Given the description of an element on the screen output the (x, y) to click on. 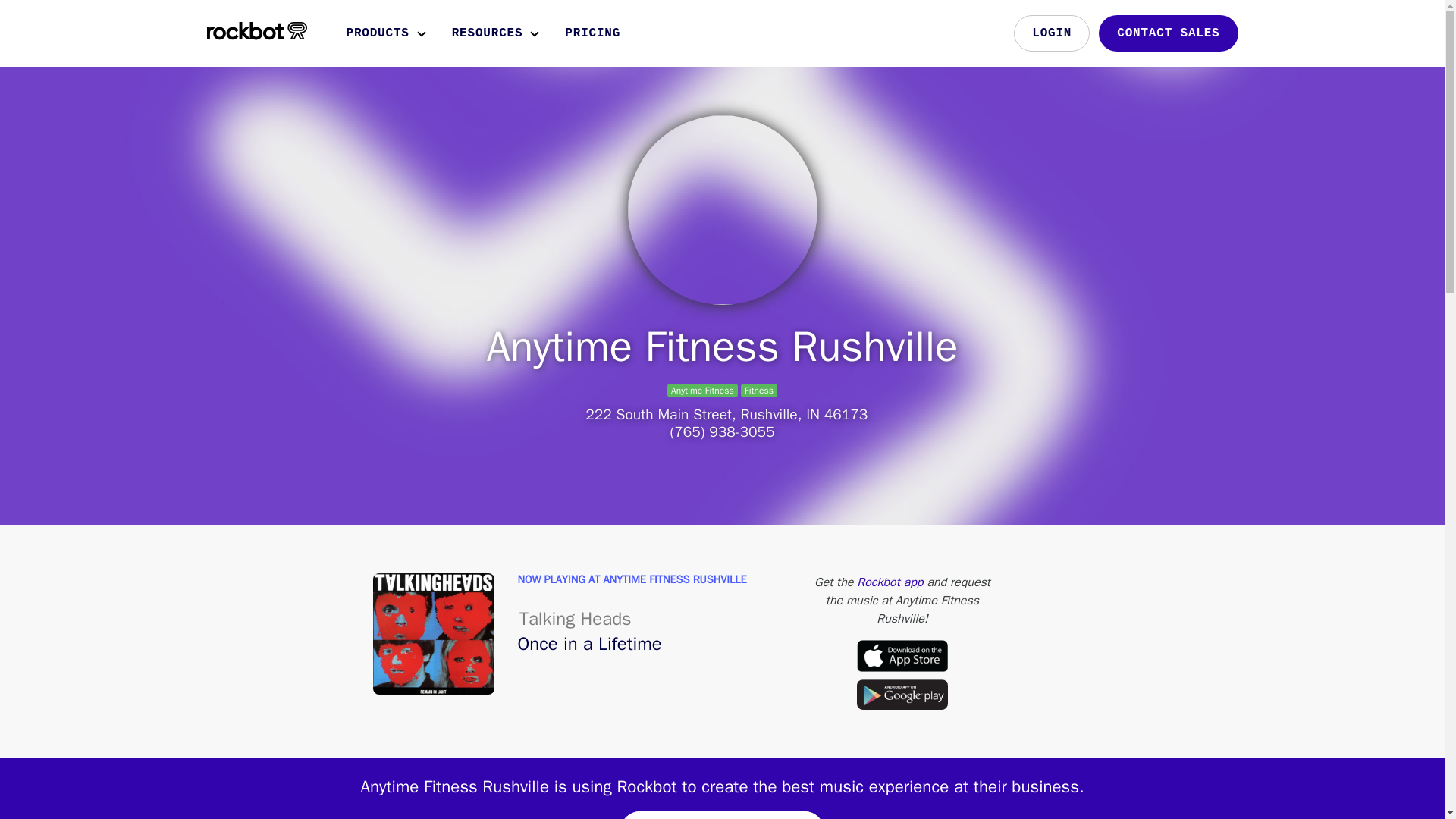
LOGIN (1051, 33)
CONTACT SALES (1168, 33)
RESOURCES (496, 33)
Anytime Fitness (701, 390)
Rockbot app (890, 581)
preview soundtrack (722, 815)
PRODUCTS (385, 33)
Fitness (758, 390)
PRICING (595, 33)
